Given the description of an element on the screen output the (x, y) to click on. 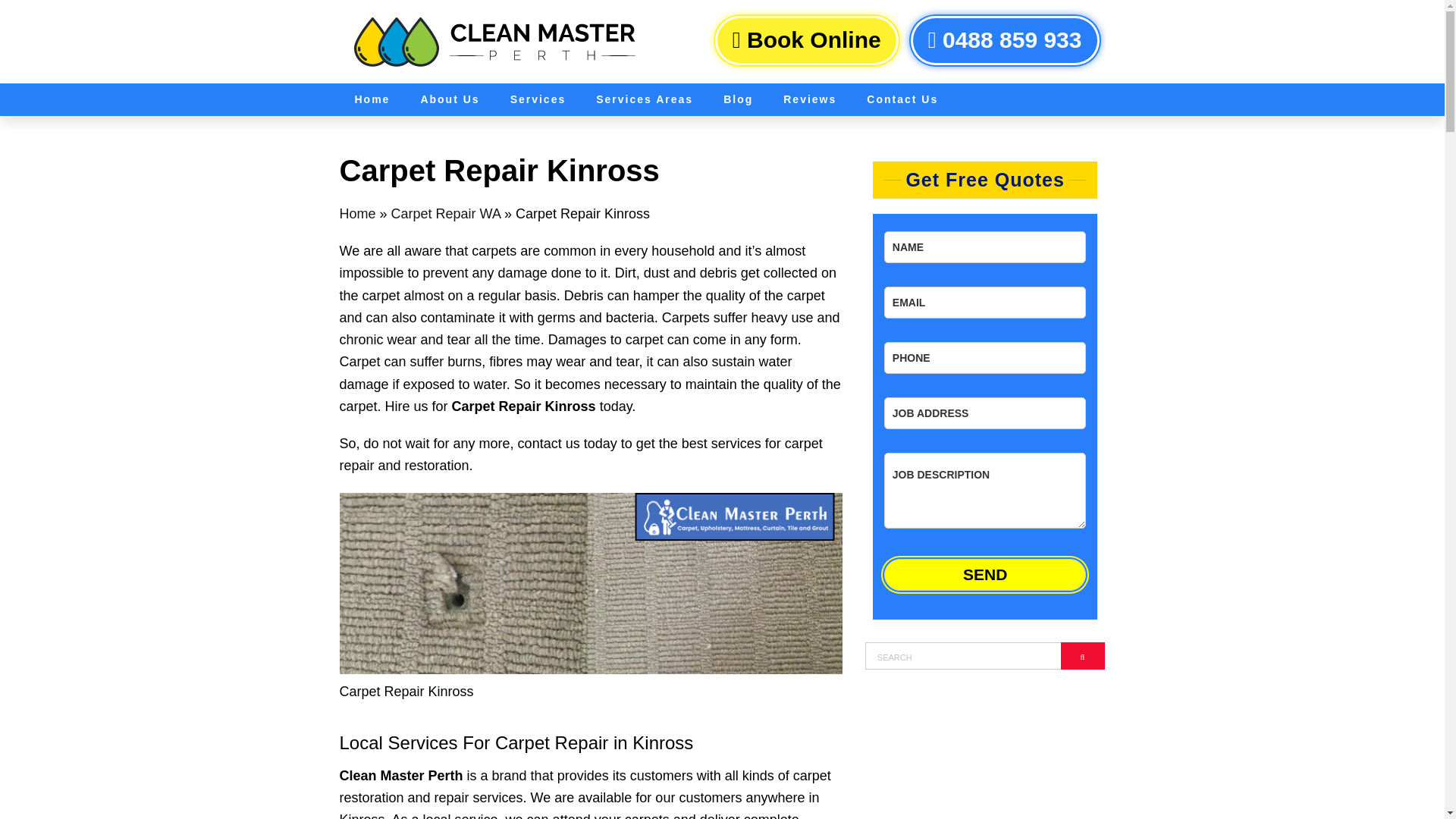
Carpet Repair WA (445, 213)
Send (984, 574)
Services Areas (643, 99)
About Us (449, 99)
Book Online (806, 40)
Services (537, 99)
Contact Us (902, 99)
Home (357, 213)
0488 859 933 (1004, 40)
Send (984, 574)
Home (372, 99)
Blog (737, 99)
Reviews (809, 99)
